Given the description of an element on the screen output the (x, y) to click on. 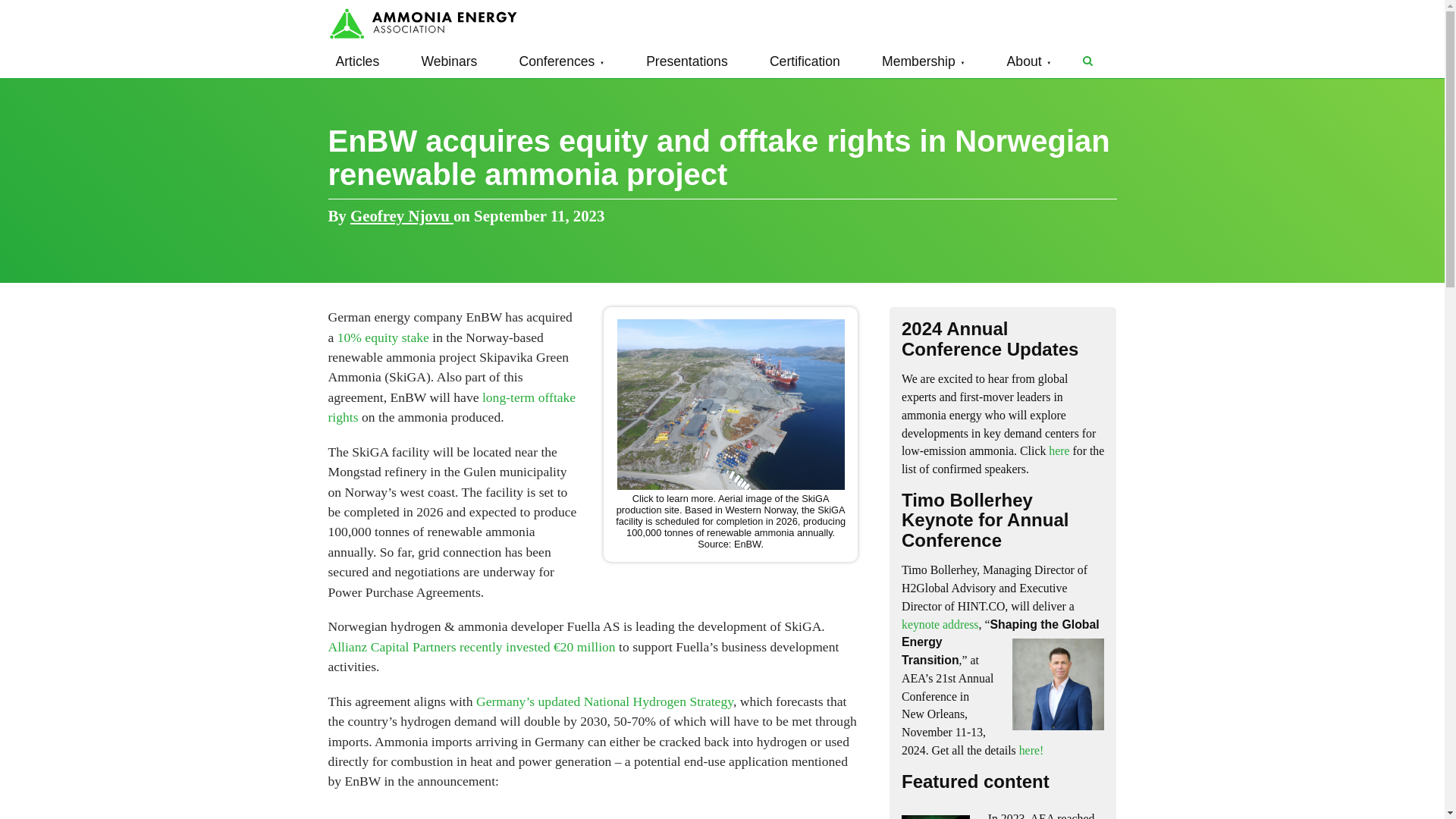
Conferences (561, 60)
Geofrey Njovu (401, 215)
Membership (923, 60)
Search (1088, 61)
long-term offtake rights (451, 407)
Certification (804, 60)
Articles (357, 60)
Webinars (448, 60)
Presentations (687, 60)
About (1028, 60)
